Given the description of an element on the screen output the (x, y) to click on. 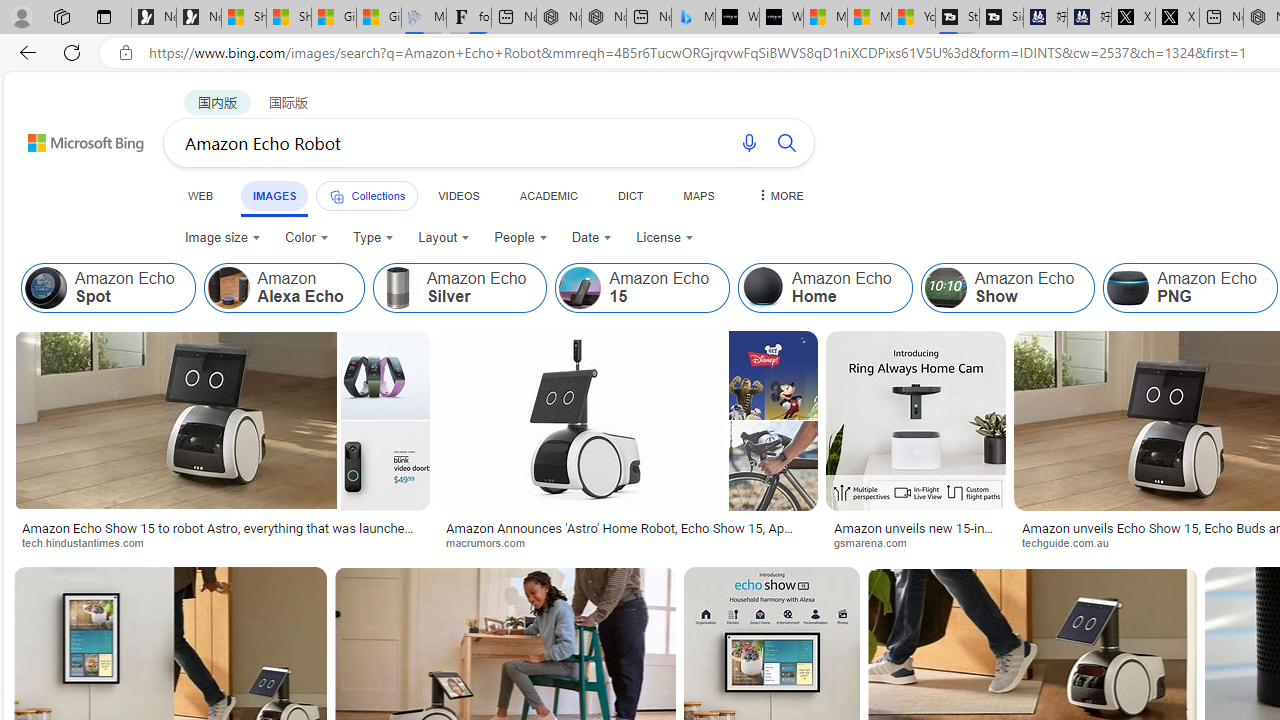
macrumors.com (491, 541)
WEB (201, 195)
Amazon Echo PNG (1190, 287)
Type (373, 237)
